Given the description of an element on the screen output the (x, y) to click on. 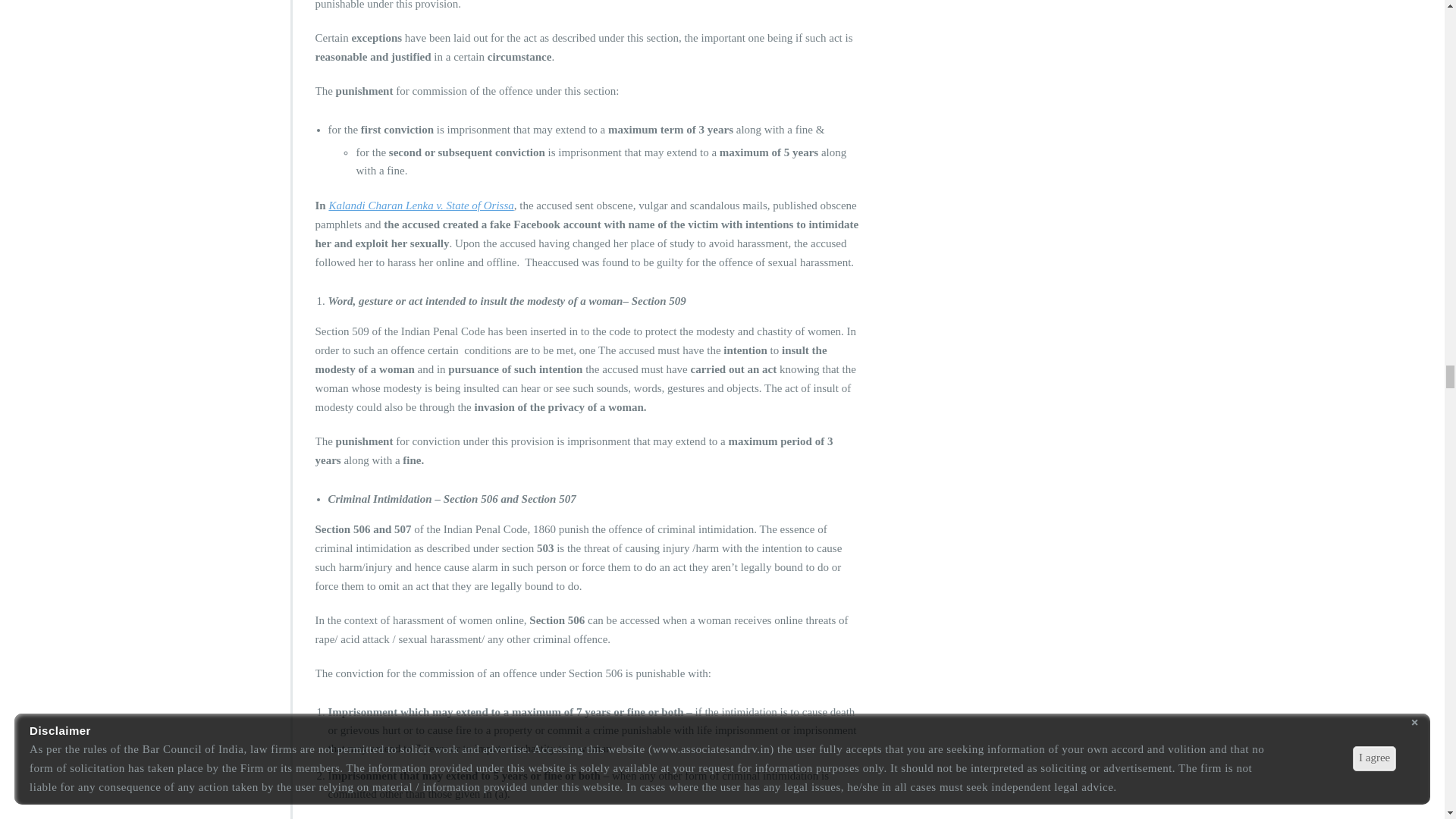
Kalandi Charan Lenka v. State of Orissa (421, 205)
